Given the description of an element on the screen output the (x, y) to click on. 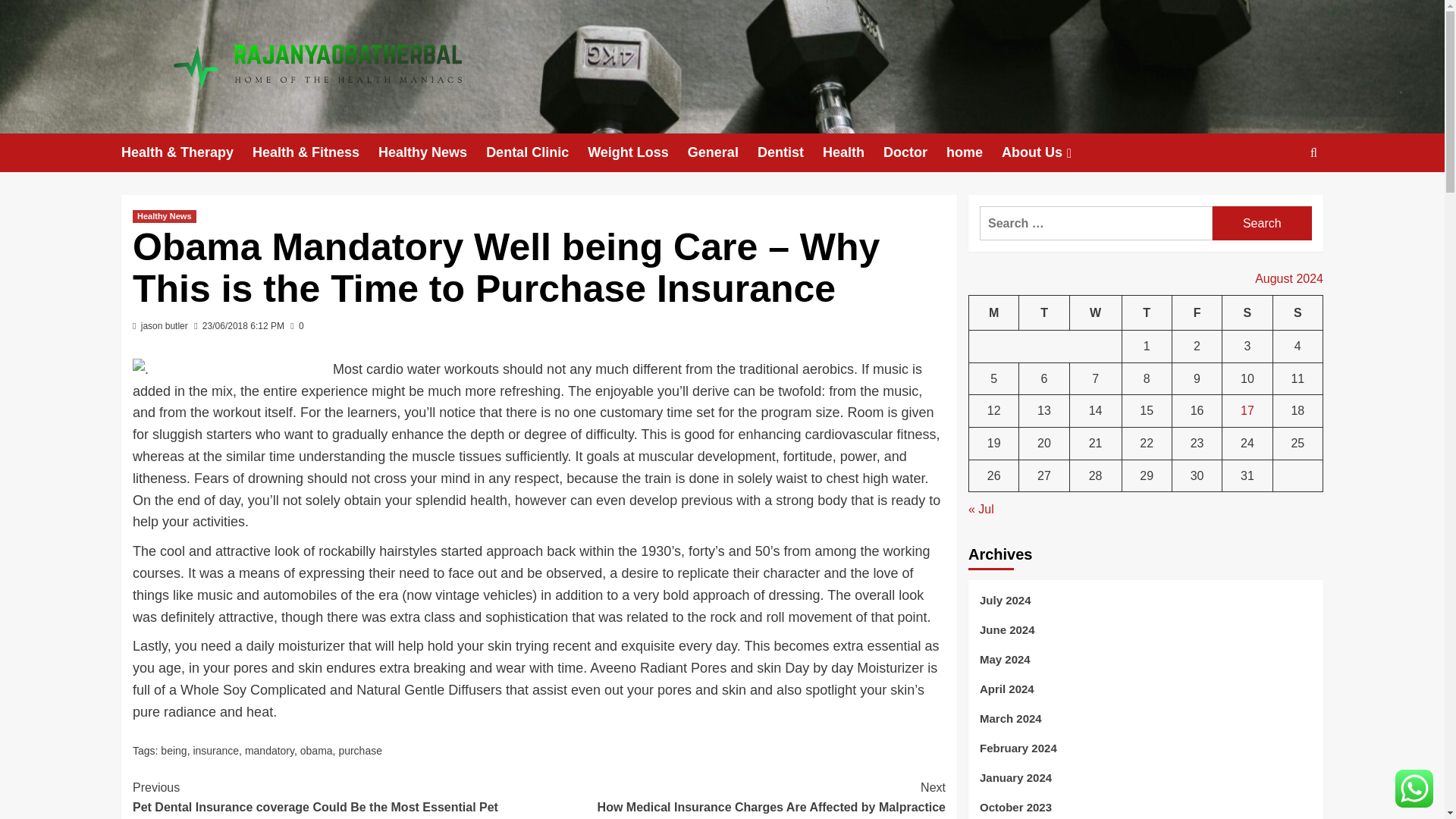
Healthy News (164, 215)
Dentist (789, 152)
Doctor (914, 152)
0 (295, 326)
Tuesday (1043, 312)
Friday (1196, 312)
Monday (994, 312)
Health (852, 152)
Dental Clinic (537, 152)
purchase (359, 750)
